Given the description of an element on the screen output the (x, y) to click on. 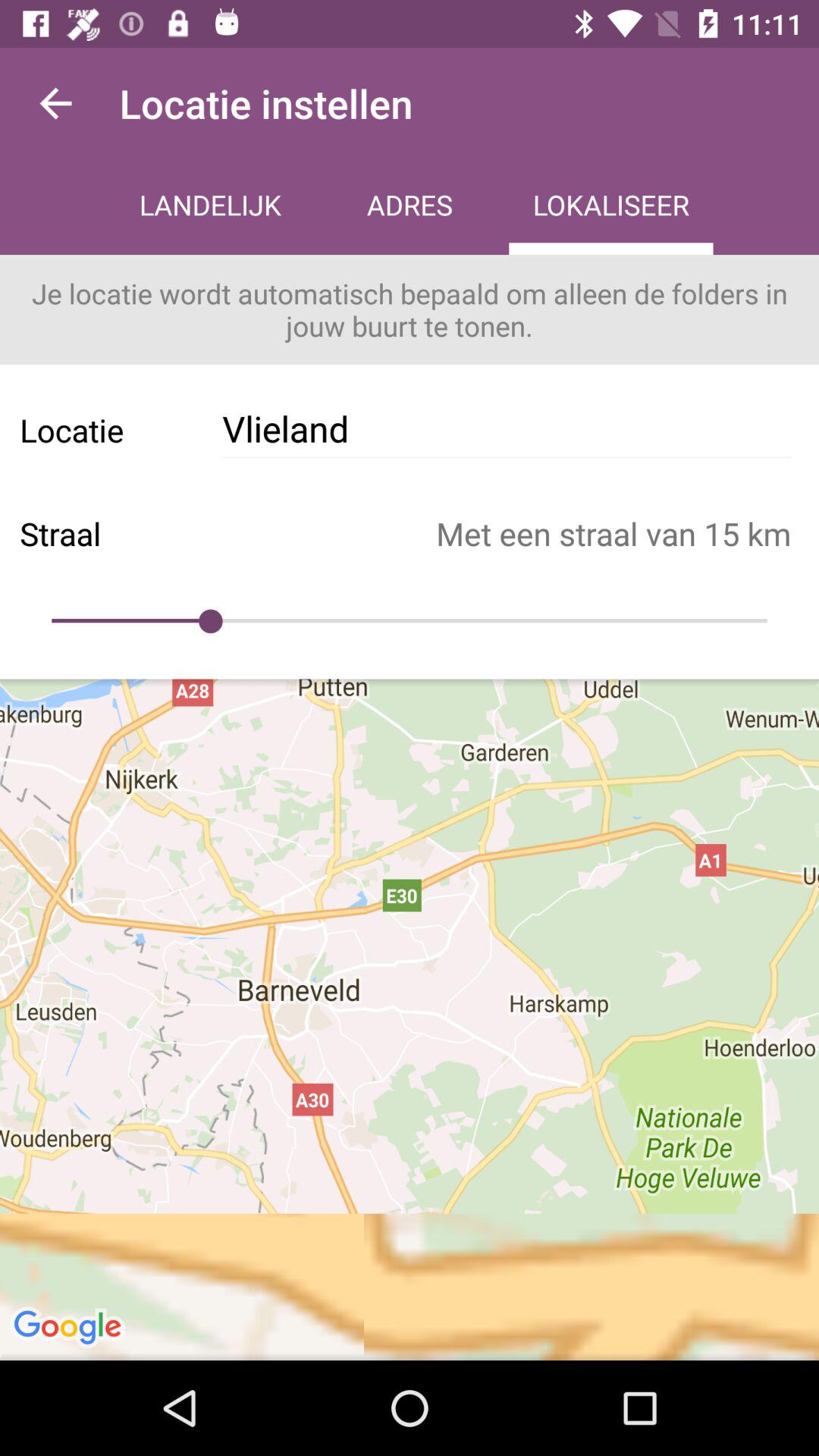
select the icon below the je locatie wordt (506, 429)
